Given the description of an element on the screen output the (x, y) to click on. 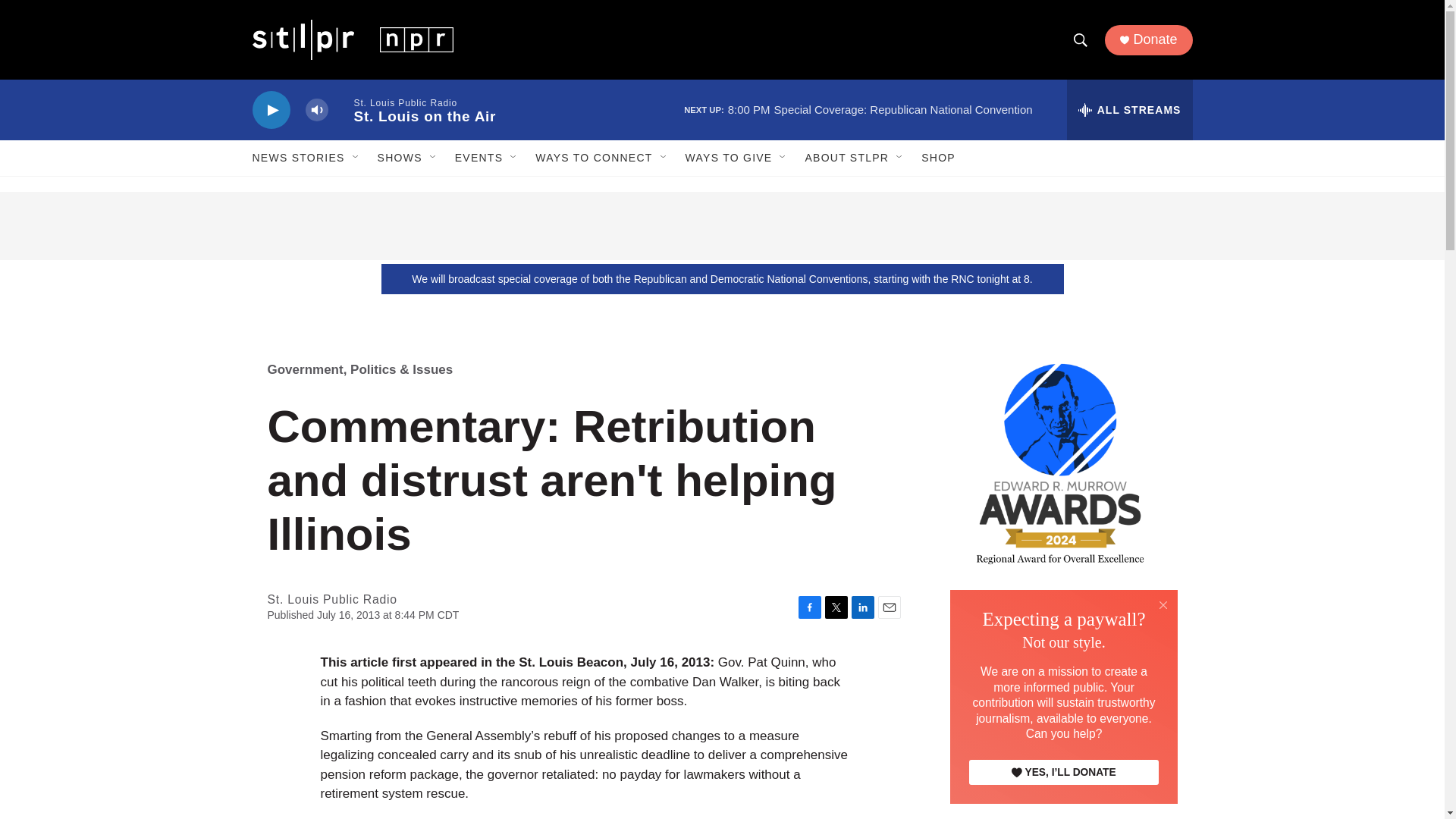
3rd party ad content (1062, 699)
Close (1162, 605)
Close (1162, 604)
3rd party ad content (721, 225)
